Given the description of an element on the screen output the (x, y) to click on. 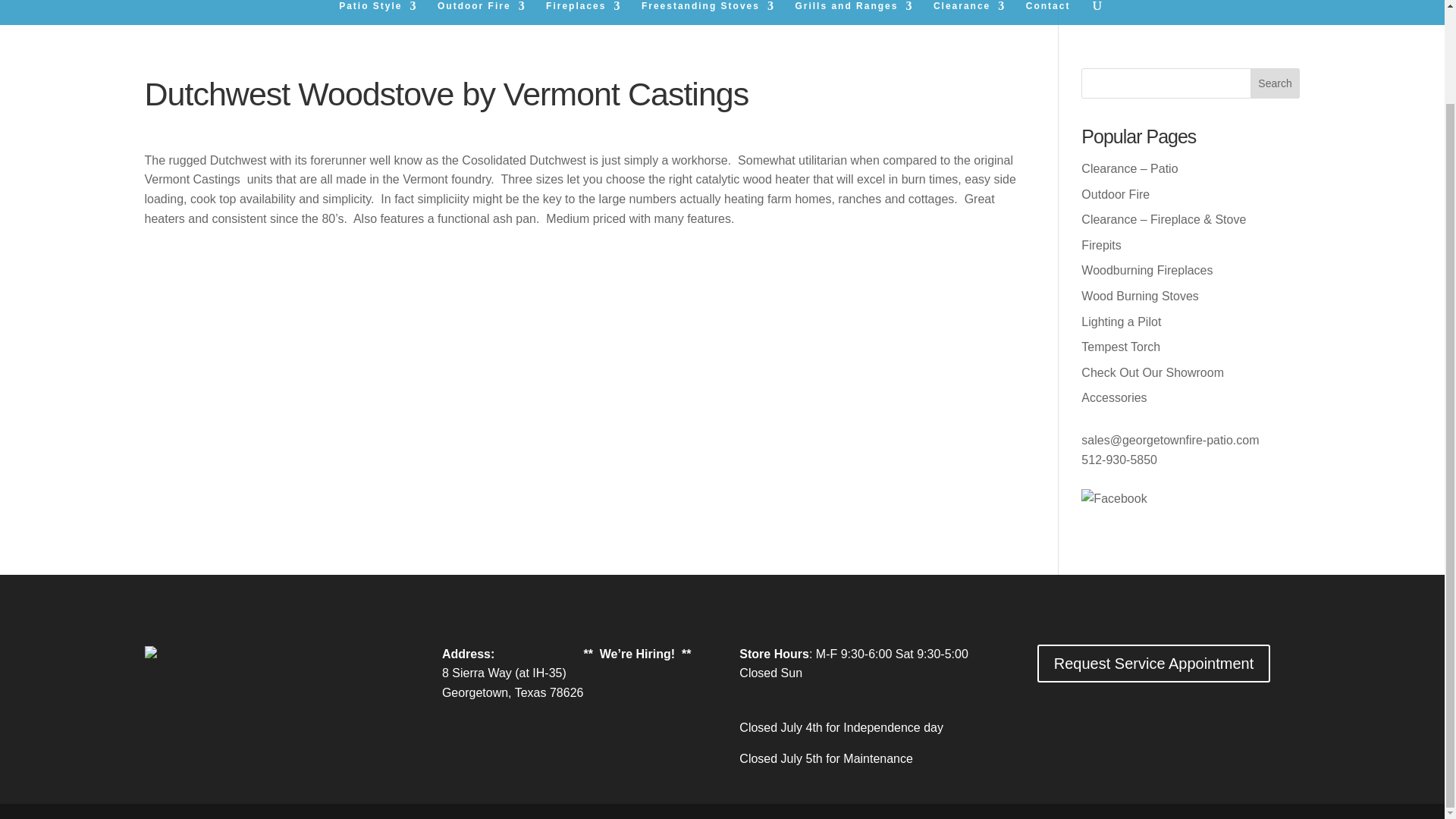
Clearance (969, 12)
Patio Style (377, 12)
Contact (1048, 12)
Freestanding Stoves (708, 12)
Outdoor Fire (481, 12)
Grills and Ranges (853, 12)
Search (1275, 82)
Fireplaces (583, 12)
